Given the description of an element on the screen output the (x, y) to click on. 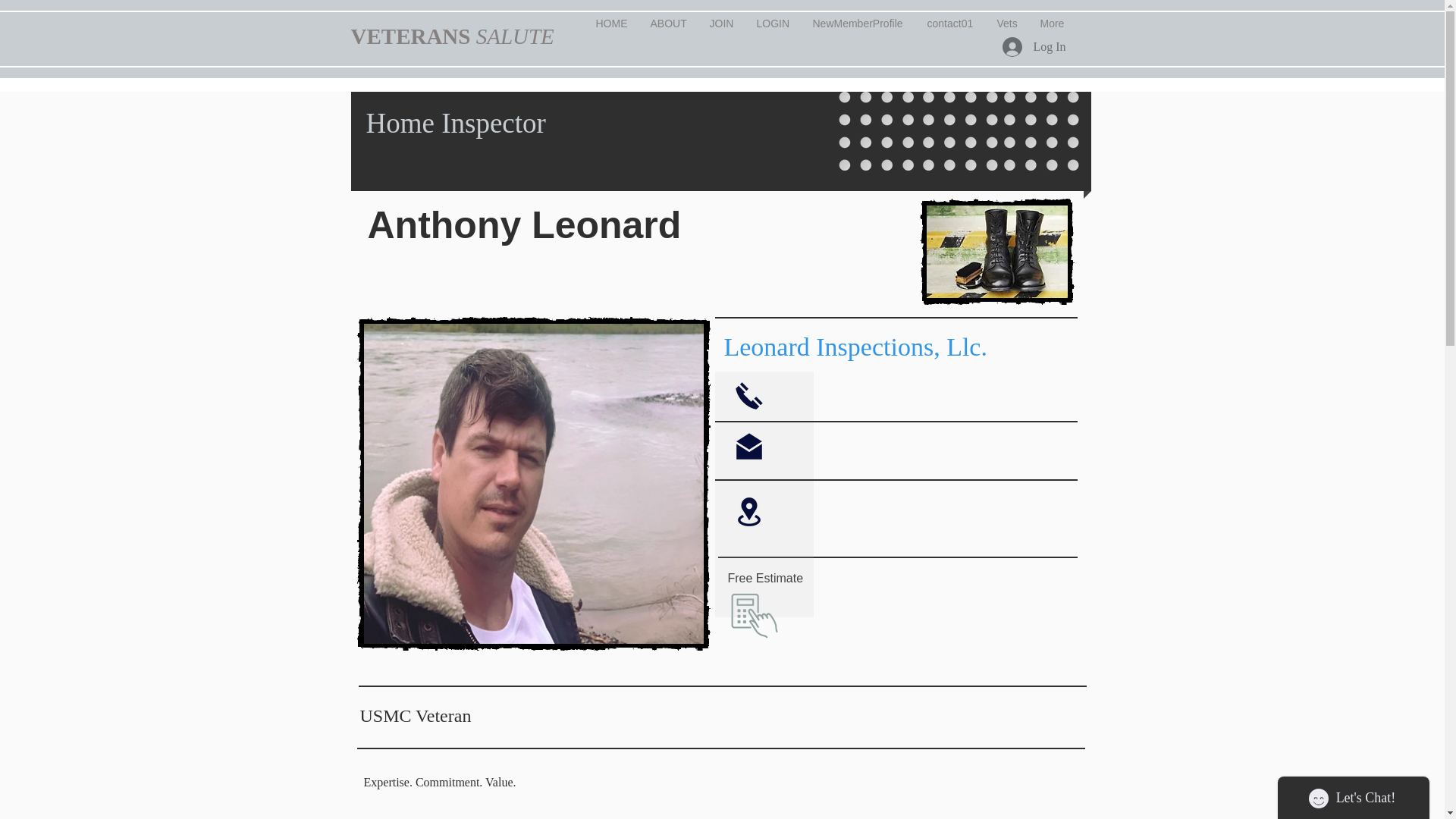
618-340-6555 (754, 615)
ABOUT (668, 23)
JOIN (720, 23)
HOME (611, 23)
contact01 (950, 23)
Vets (1007, 23)
Home Inspection (533, 483)
LOGIN (772, 23)
VETERANS SALUTE (451, 36)
NewMemberProfile (857, 23)
Log In (1033, 46)
